Given the description of an element on the screen output the (x, y) to click on. 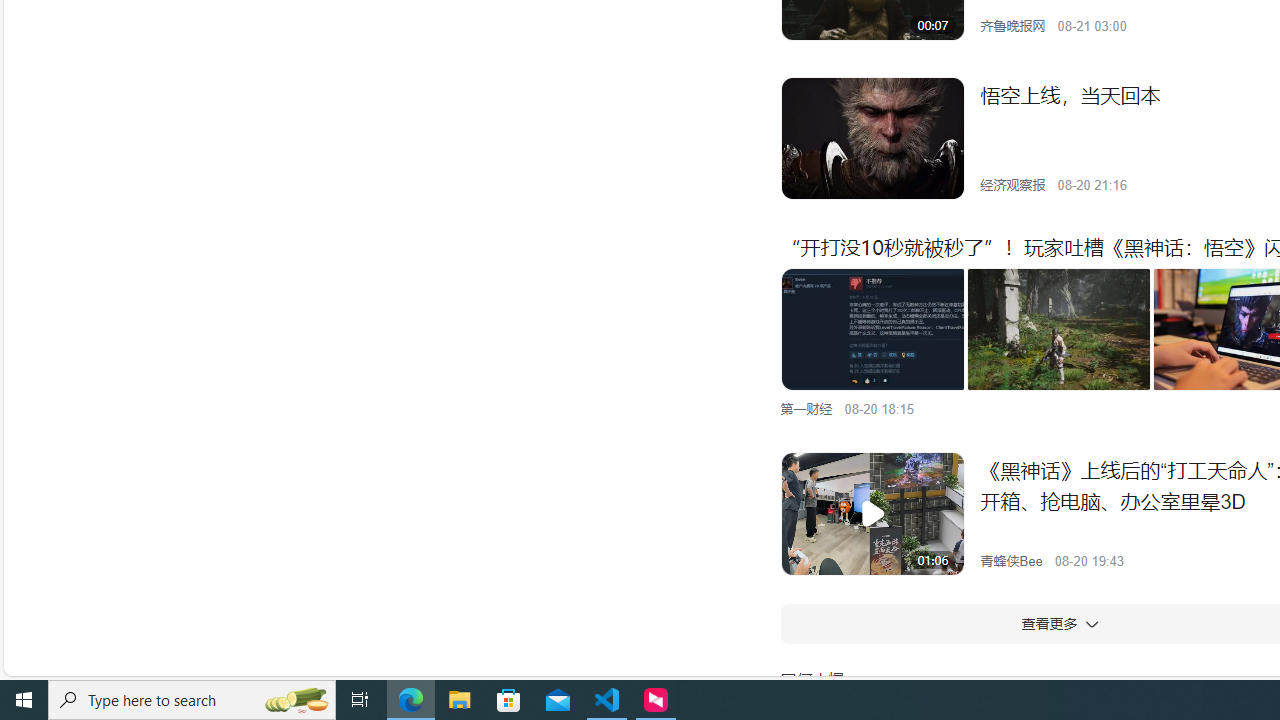
Class: w-icon pc-image-mask-icon (872, 514)
Class: w-icon (1090, 623)
Class: w-icon pc-image-default-icon (871, 514)
